Given the description of an element on the screen output the (x, y) to click on. 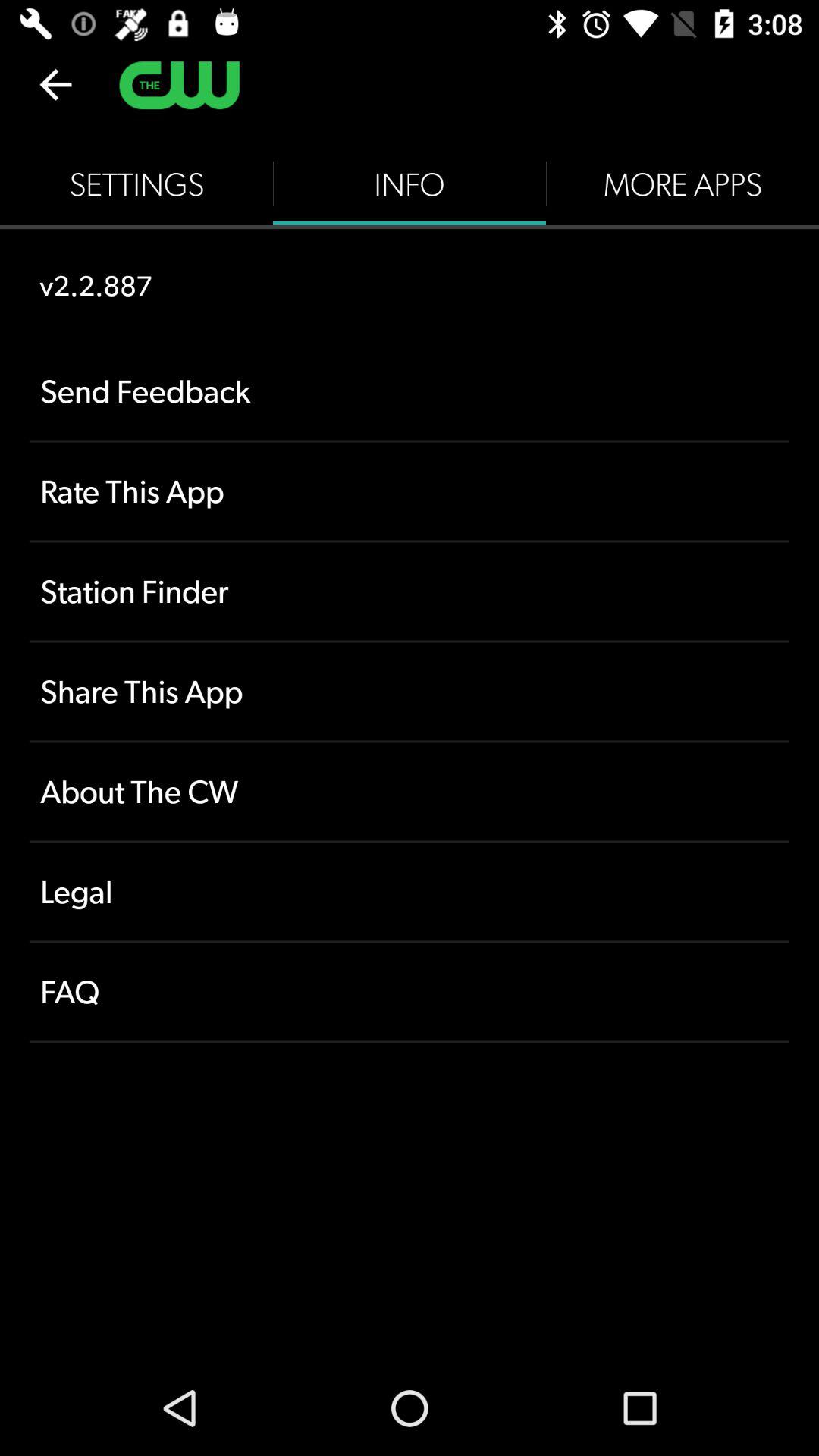
press about the cw (409, 791)
